Given the description of an element on the screen output the (x, y) to click on. 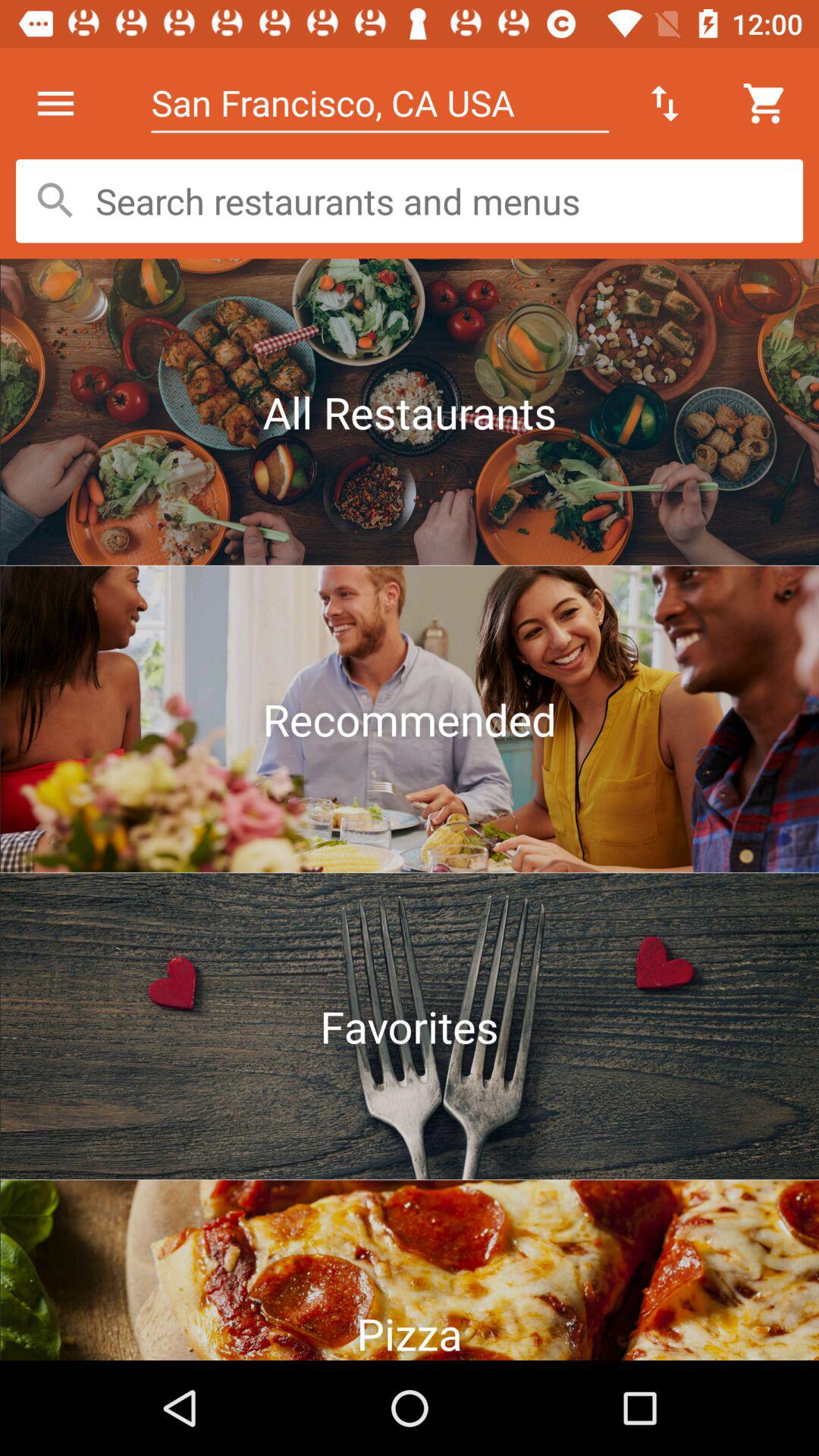
turn off the icon to the right of san francisco ca icon (664, 103)
